Given the description of an element on the screen output the (x, y) to click on. 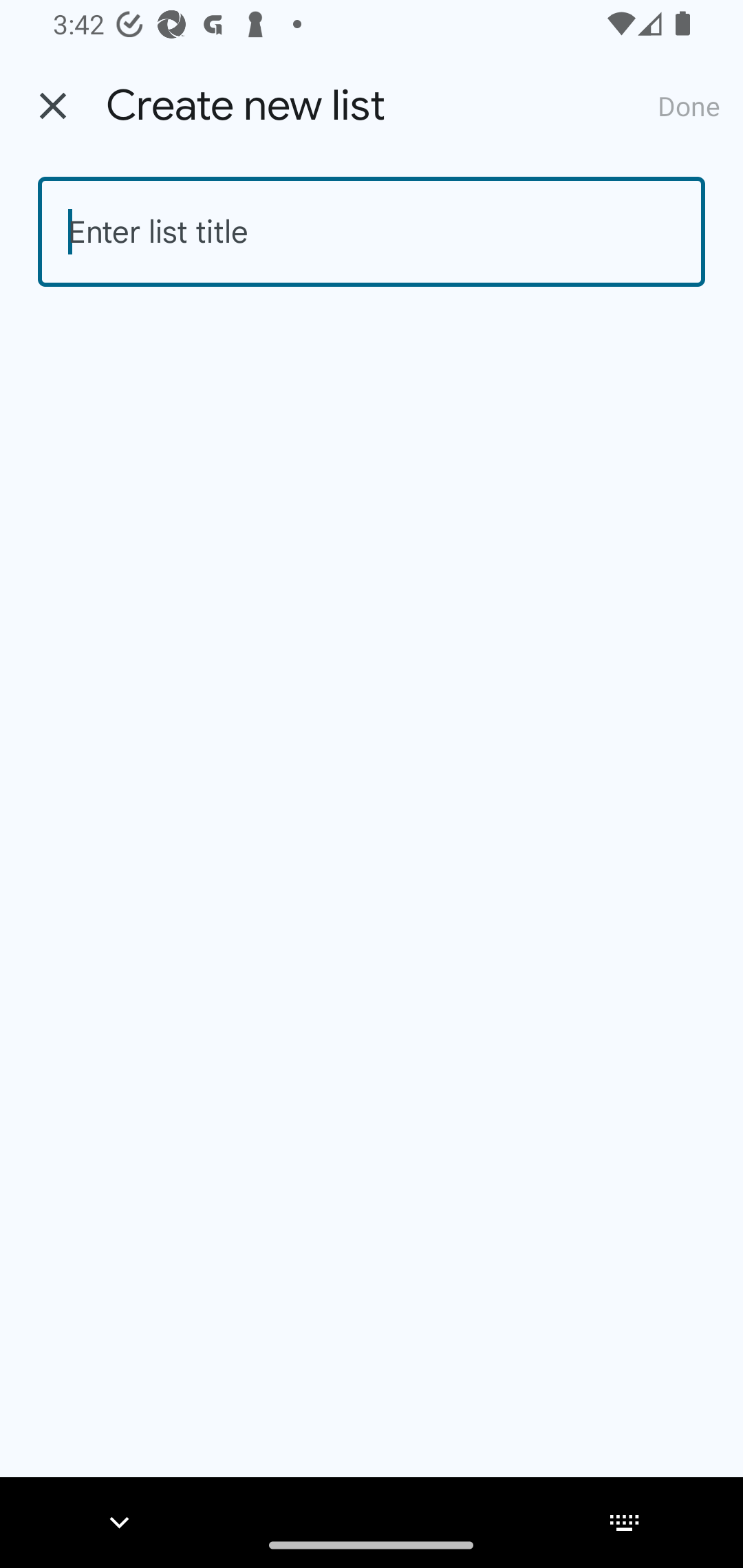
Back (53, 105)
Done (689, 105)
Enter list title (371, 231)
